Given the description of an element on the screen output the (x, y) to click on. 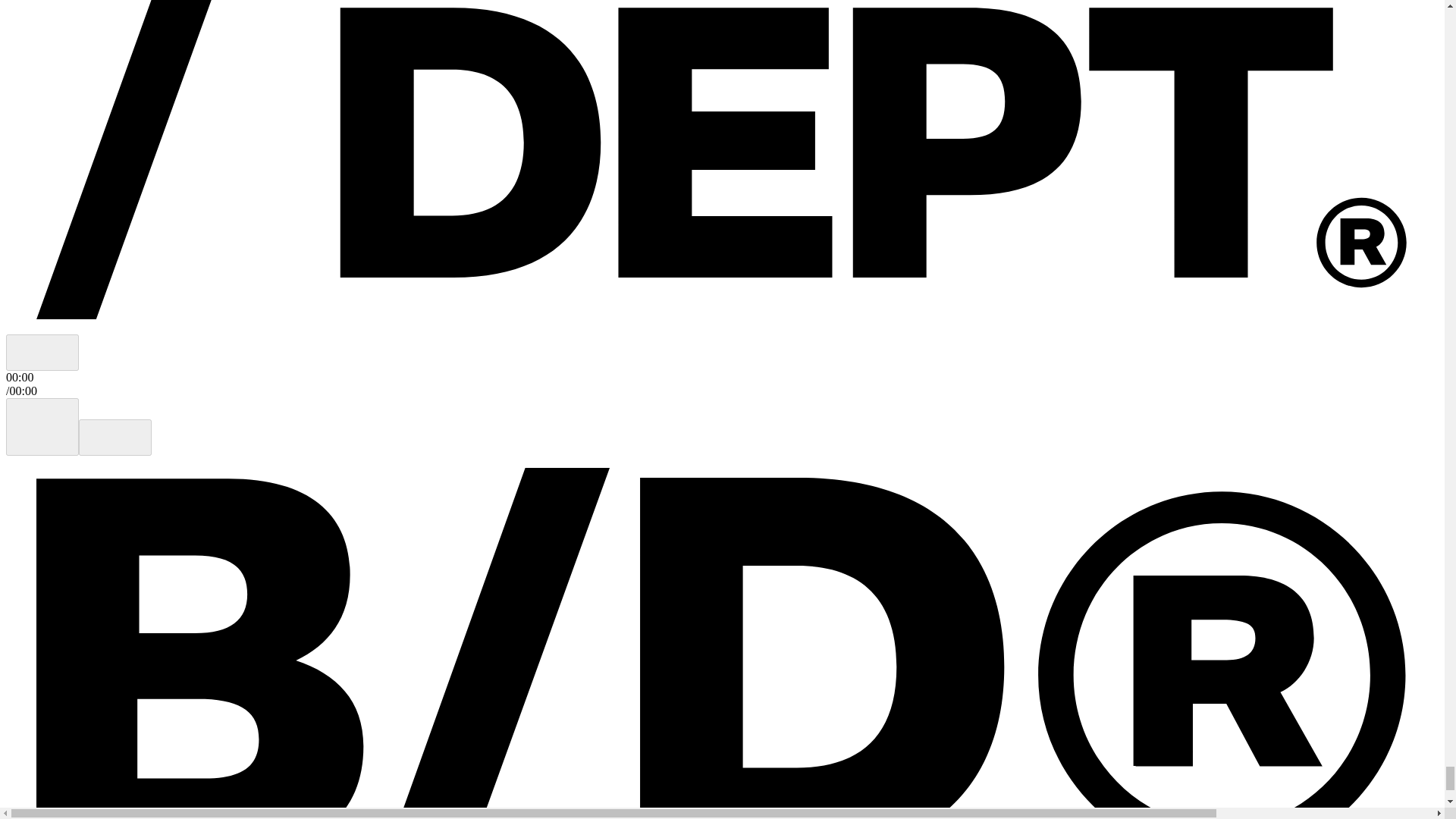
Close (41, 352)
